Given the description of an element on the screen output the (x, y) to click on. 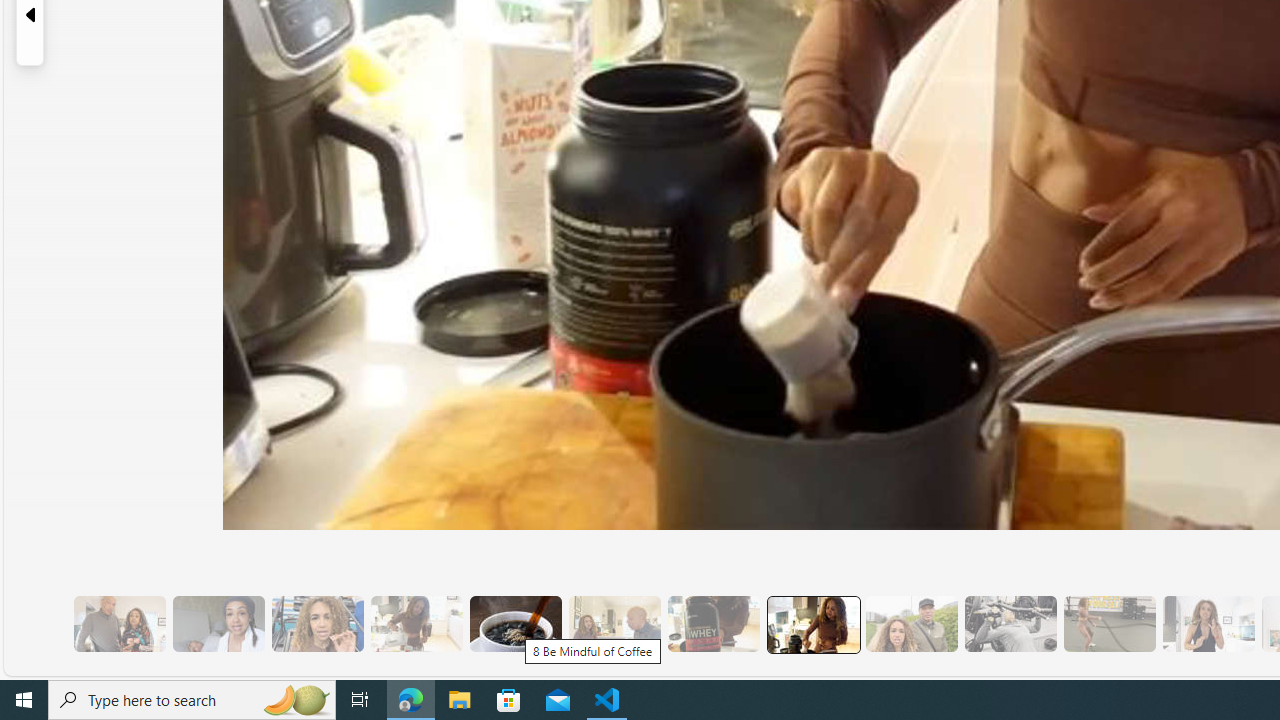
11 They Eat More Protein for Breakfast (1208, 624)
9 They Do Bench Exercises (1010, 624)
10 Then, They Do HIIT Cardio (1108, 624)
11 They Eat More Protein for Breakfast (1208, 624)
8 Be Mindful of Coffee (514, 624)
10 Then, They Do HIIT Cardio (1108, 624)
3 They Drink Lemon Tea (416, 624)
7 They Don't Skip Meals (811, 624)
1 We Eat a Protein-Packed Pre-Workout Snack (217, 624)
1 We Eat a Protein-Packed Pre-Workout Snack (217, 624)
